Given the description of an element on the screen output the (x, y) to click on. 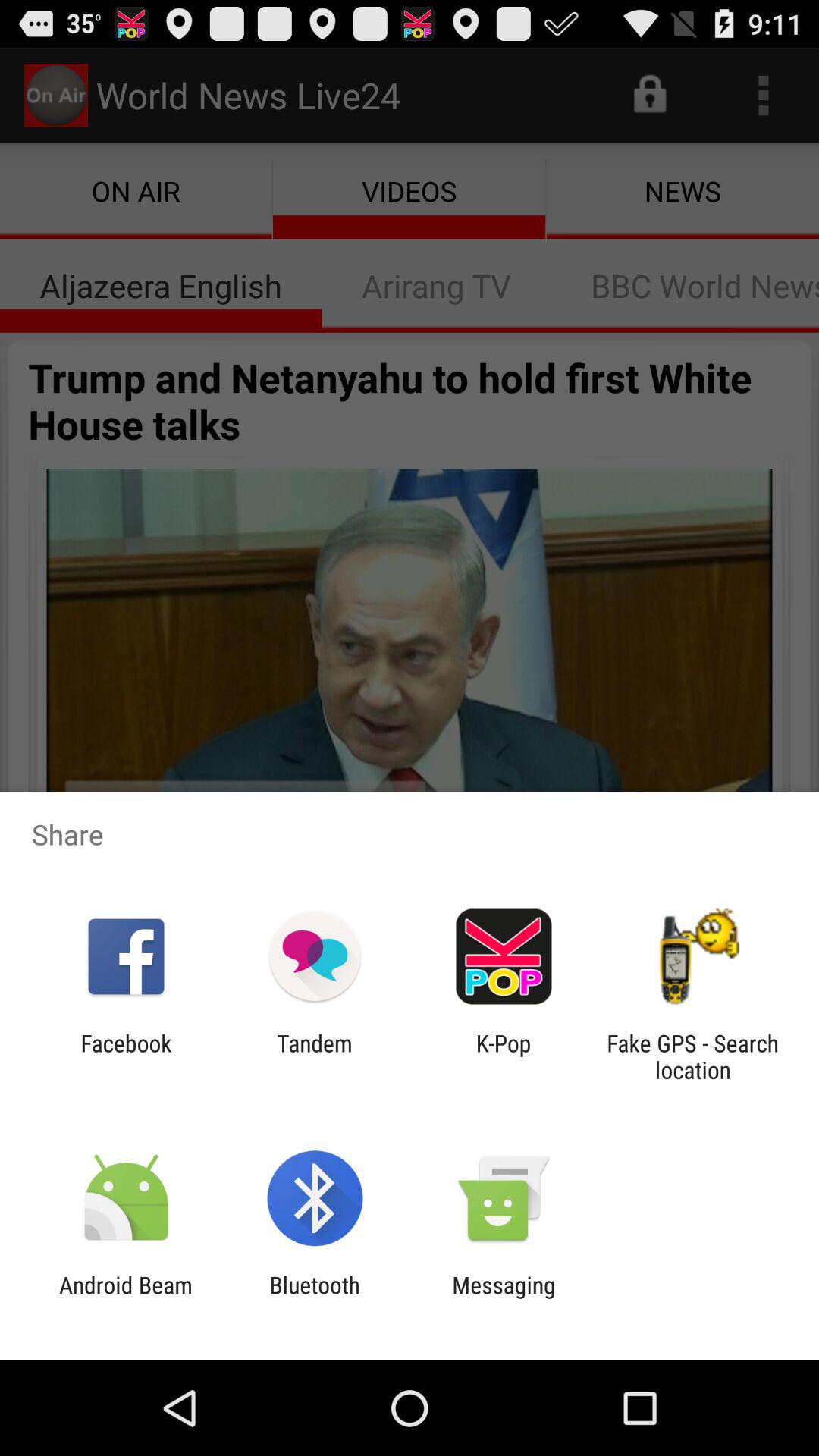
click tandem app (314, 1056)
